Given the description of an element on the screen output the (x, y) to click on. 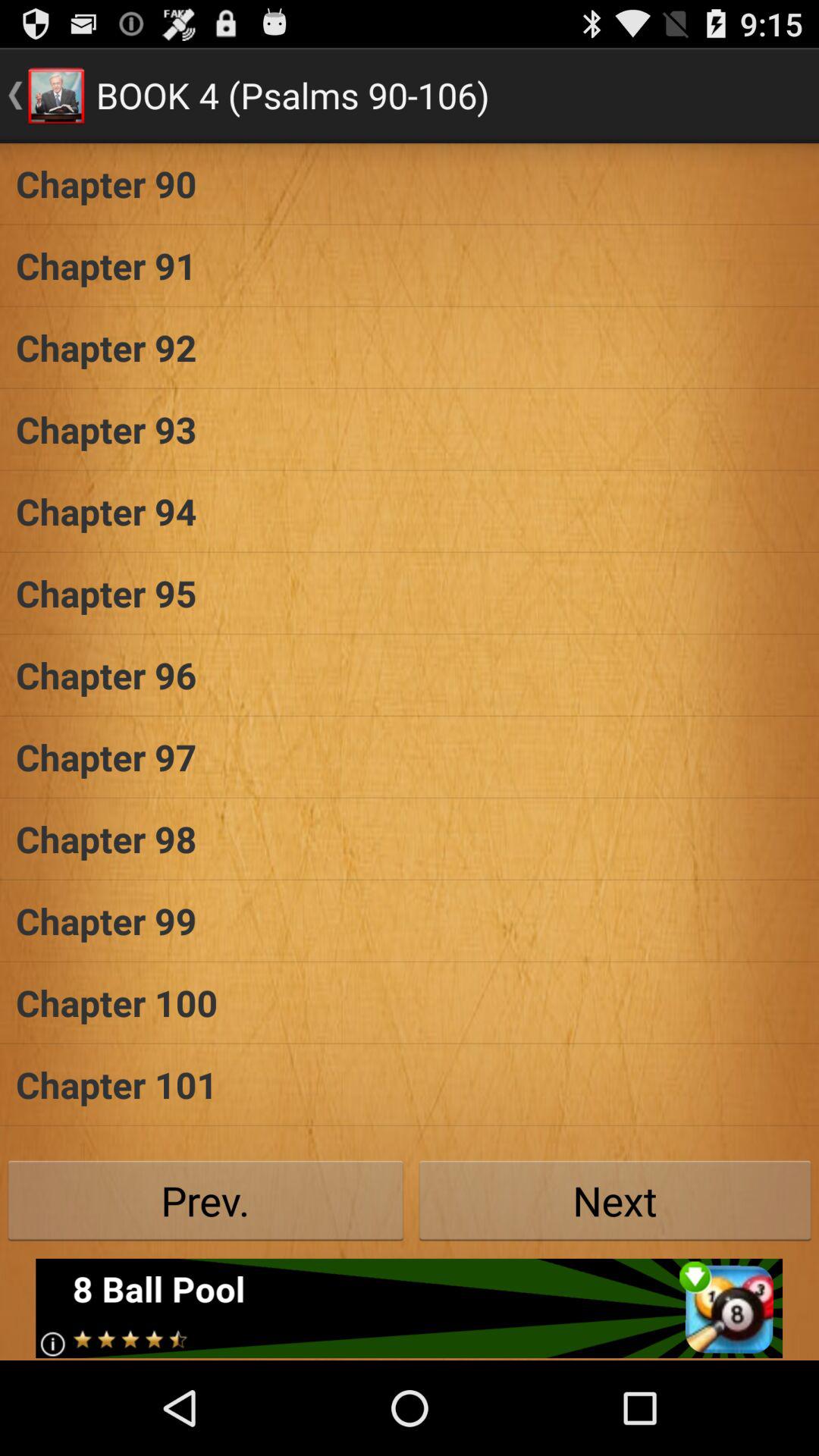
advertisement banner (408, 1308)
